Given the description of an element on the screen output the (x, y) to click on. 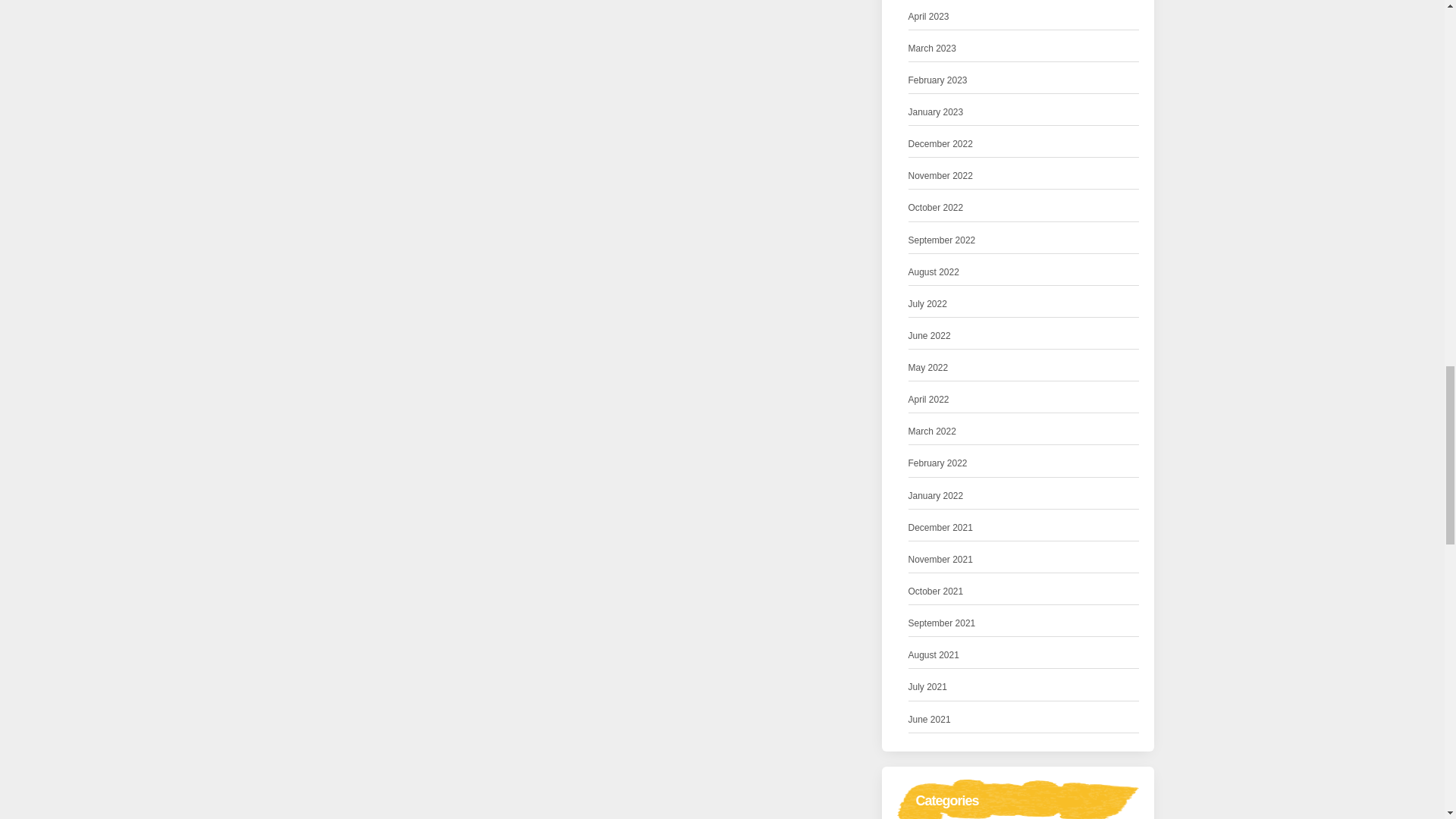
October 2022 (935, 207)
April 2023 (928, 17)
March 2023 (932, 48)
December 2022 (940, 144)
November 2022 (940, 176)
February 2023 (938, 80)
January 2023 (935, 112)
